Given the description of an element on the screen output the (x, y) to click on. 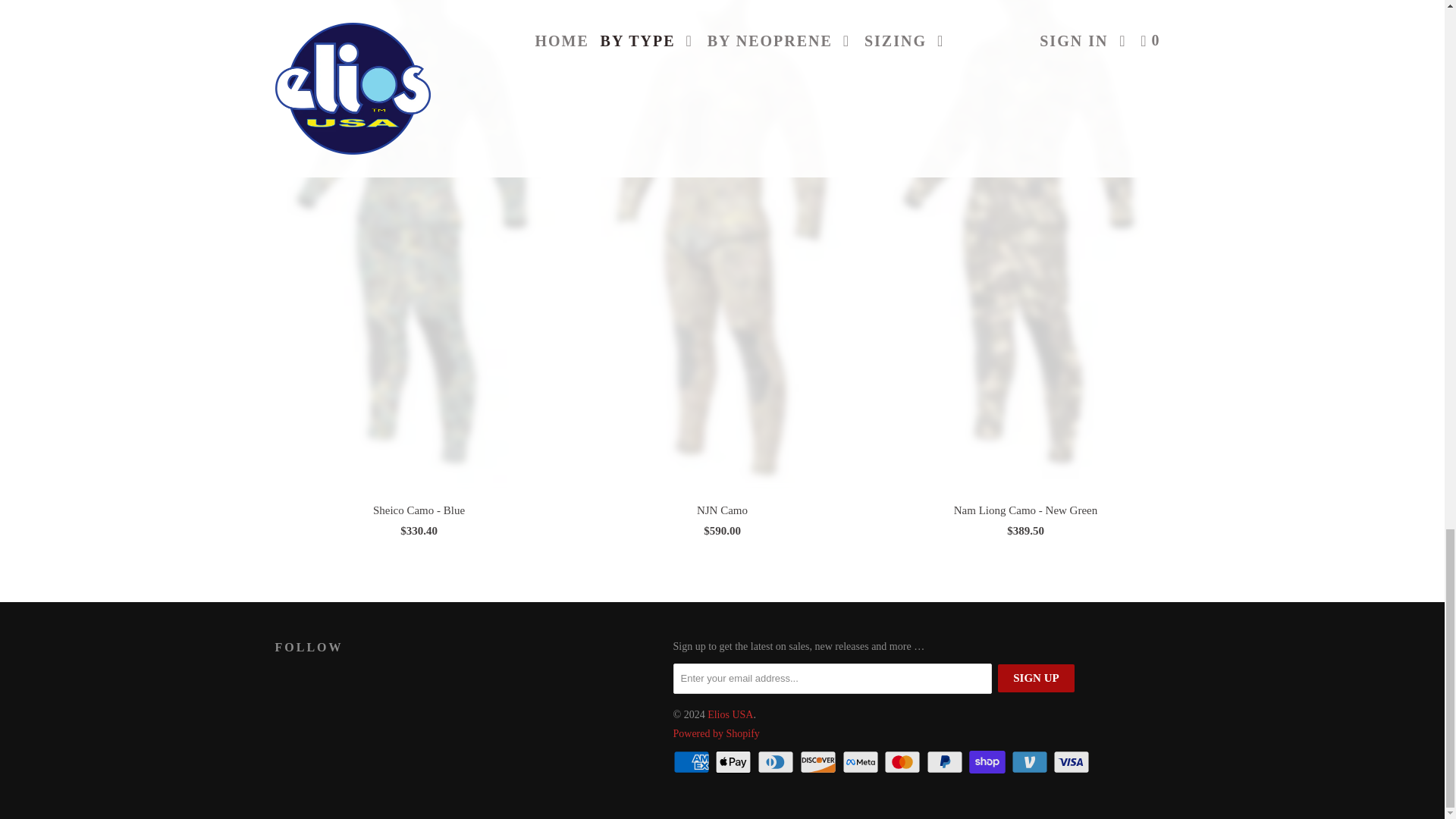
Sign Up (1035, 678)
